Given the description of an element on the screen output the (x, y) to click on. 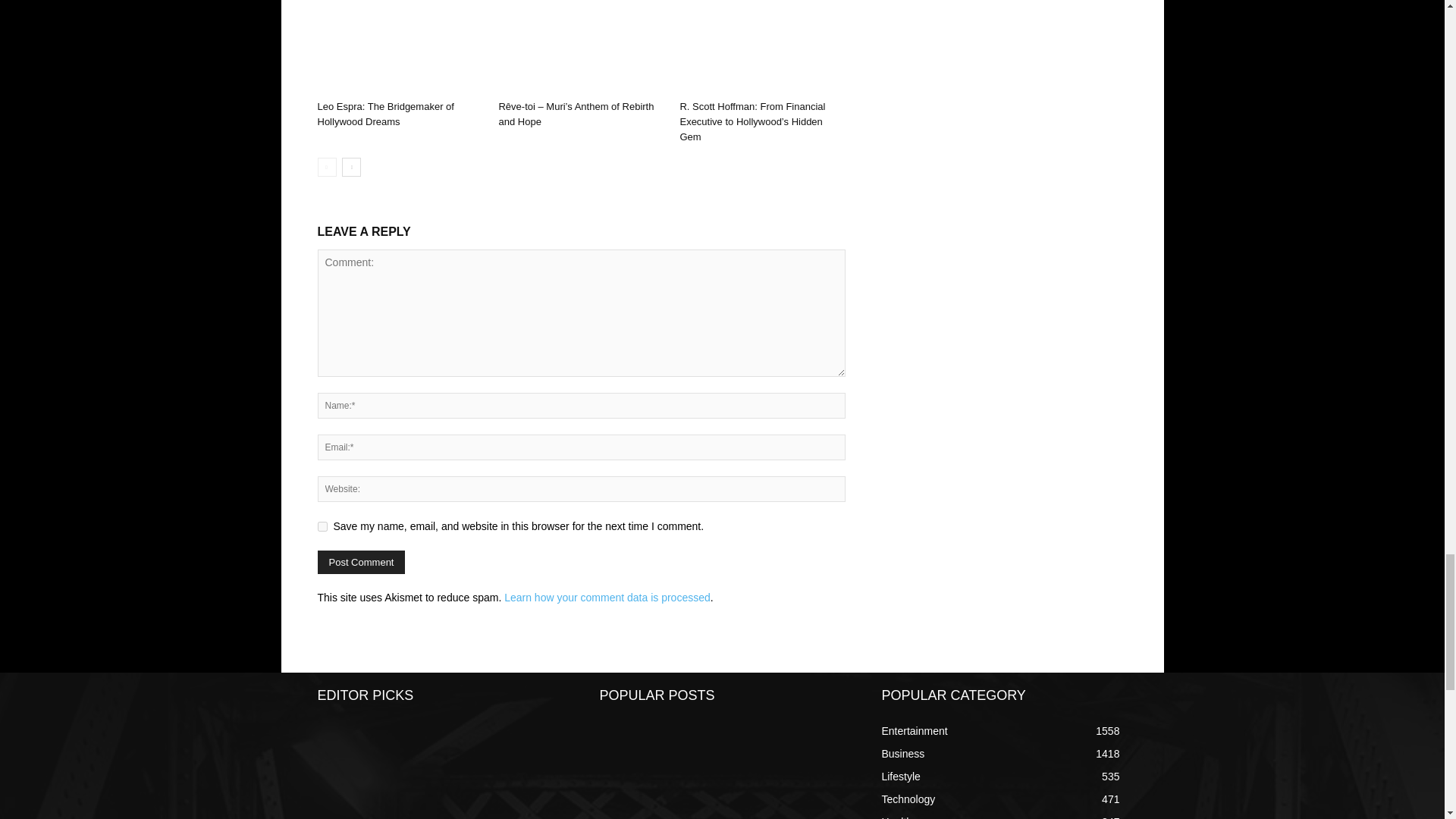
Post Comment (360, 562)
yes (321, 526)
